Given the description of an element on the screen output the (x, y) to click on. 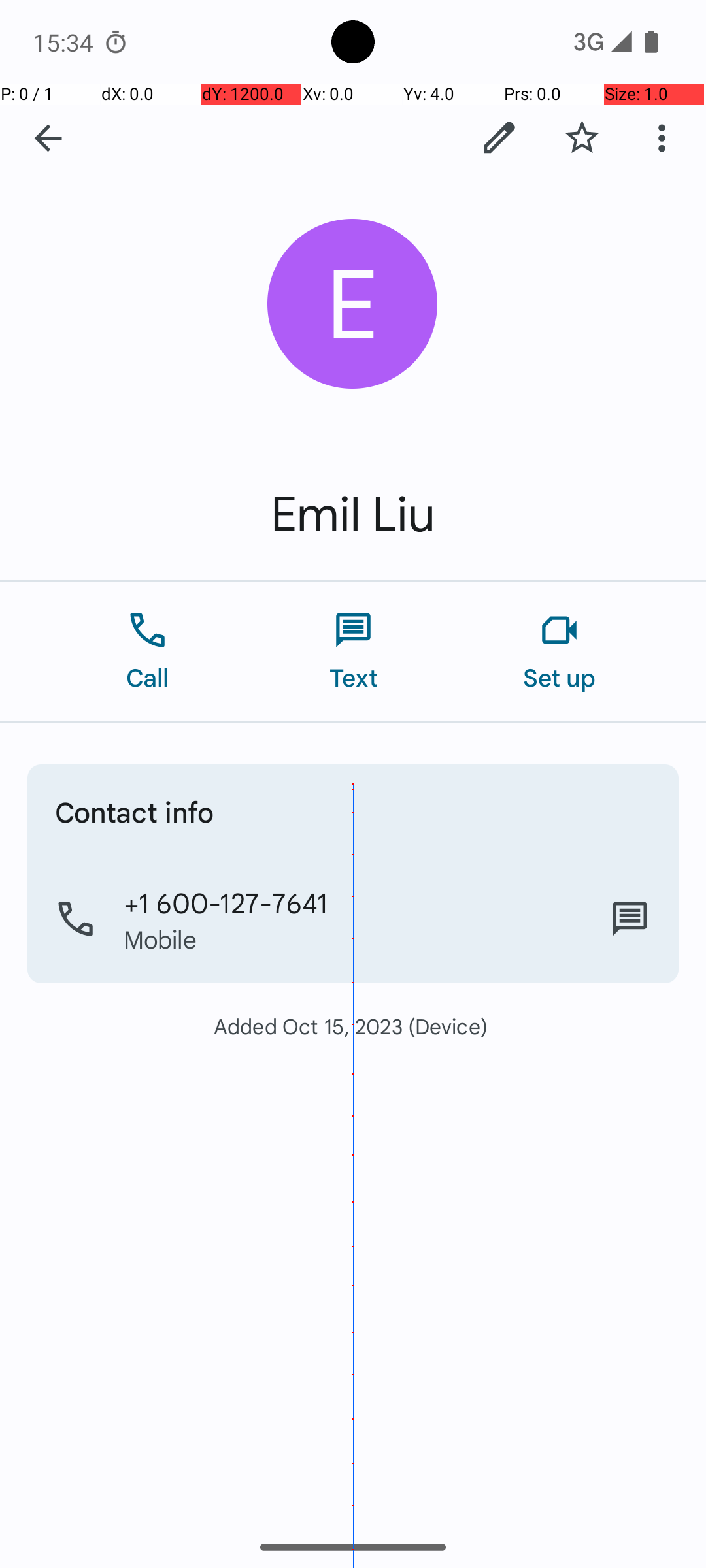
Call Mobile +1 600-127-7641 Element type: android.widget.RelativeLayout (352, 919)
Added Oct 15, 2023 (Device)  Element type: android.widget.TextView (352, 1025)
+1 600-127-7641 Element type: android.widget.TextView (225, 901)
Text Mobile +1 600-127-7641 Element type: android.widget.Button (629, 919)
